Given the description of an element on the screen output the (x, y) to click on. 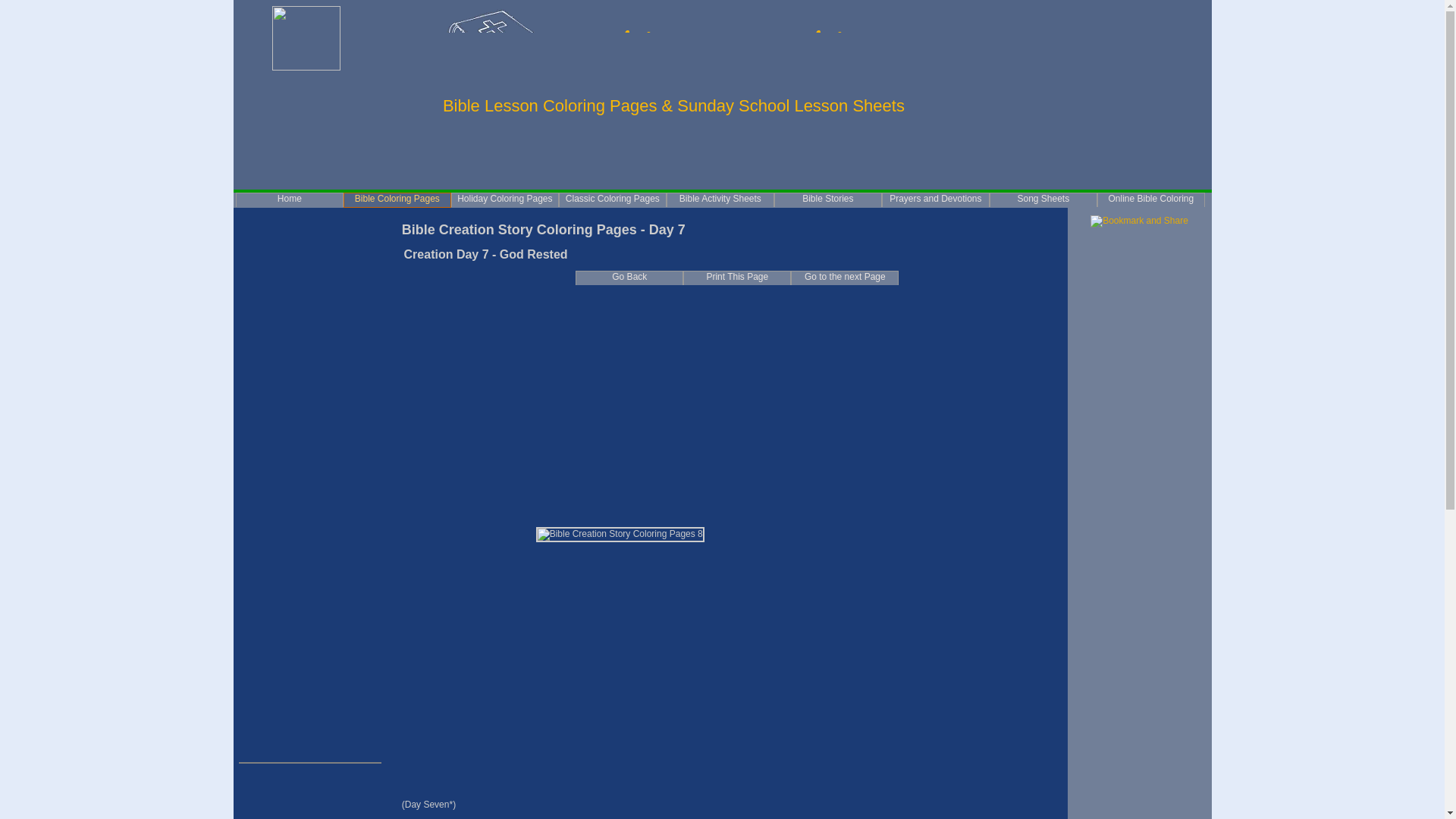
Bible Coloring Pages (397, 200)
Bible Activity Sheets (720, 199)
Creation Day 7 - God Rested (619, 534)
Song Sheets (1043, 199)
Print This Page (736, 278)
Go Back (628, 278)
Home (289, 199)
Classic Coloring Pages (612, 199)
Online Bible Coloring (1151, 199)
Bible Stories (828, 199)
